Given the description of an element on the screen output the (x, y) to click on. 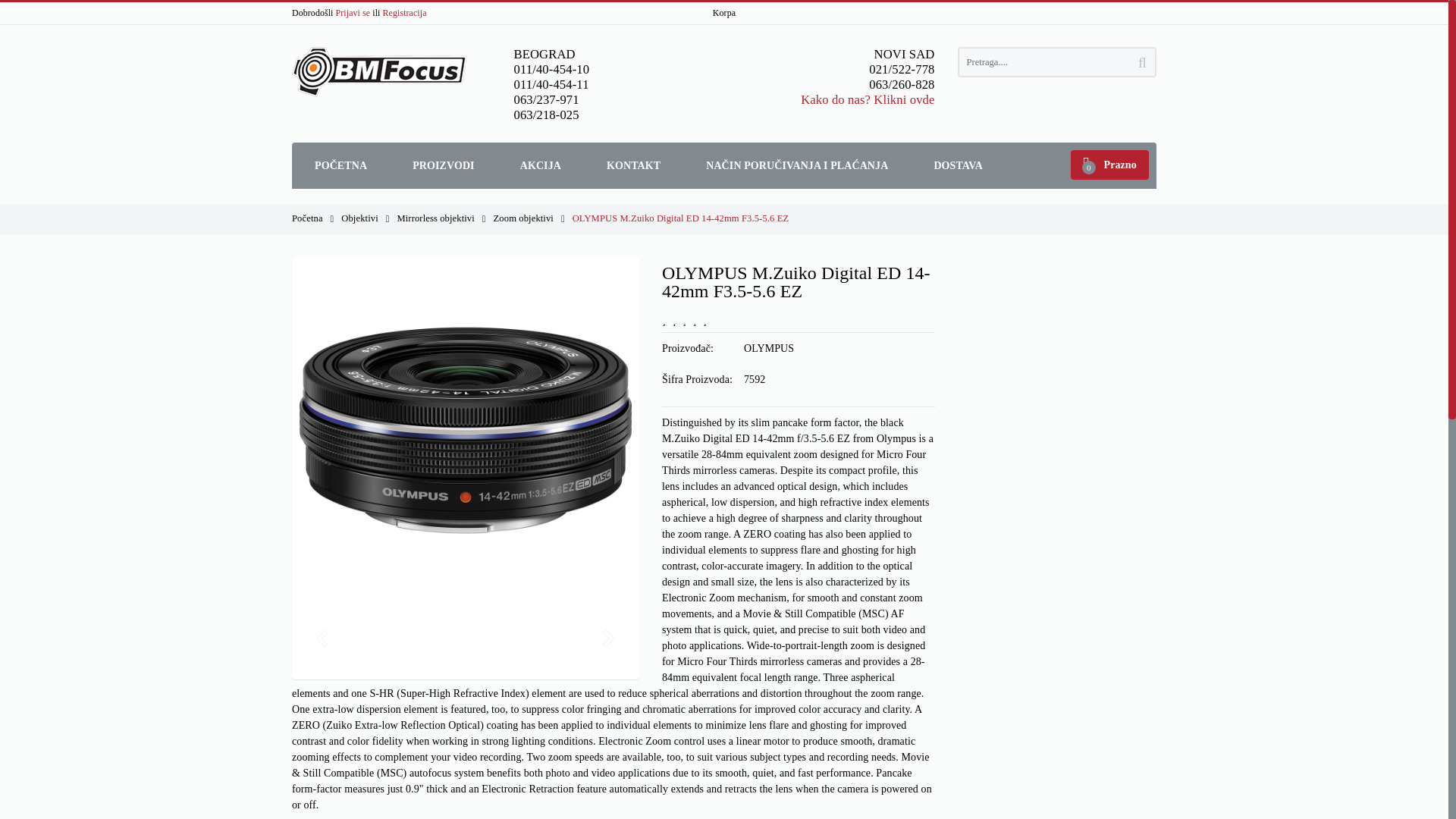
PROIZVODI (443, 165)
Registracija (404, 12)
Korpa (724, 12)
Prijavi se (353, 12)
Kako do nas? Klikni ovde (867, 99)
